Given the description of an element on the screen output the (x, y) to click on. 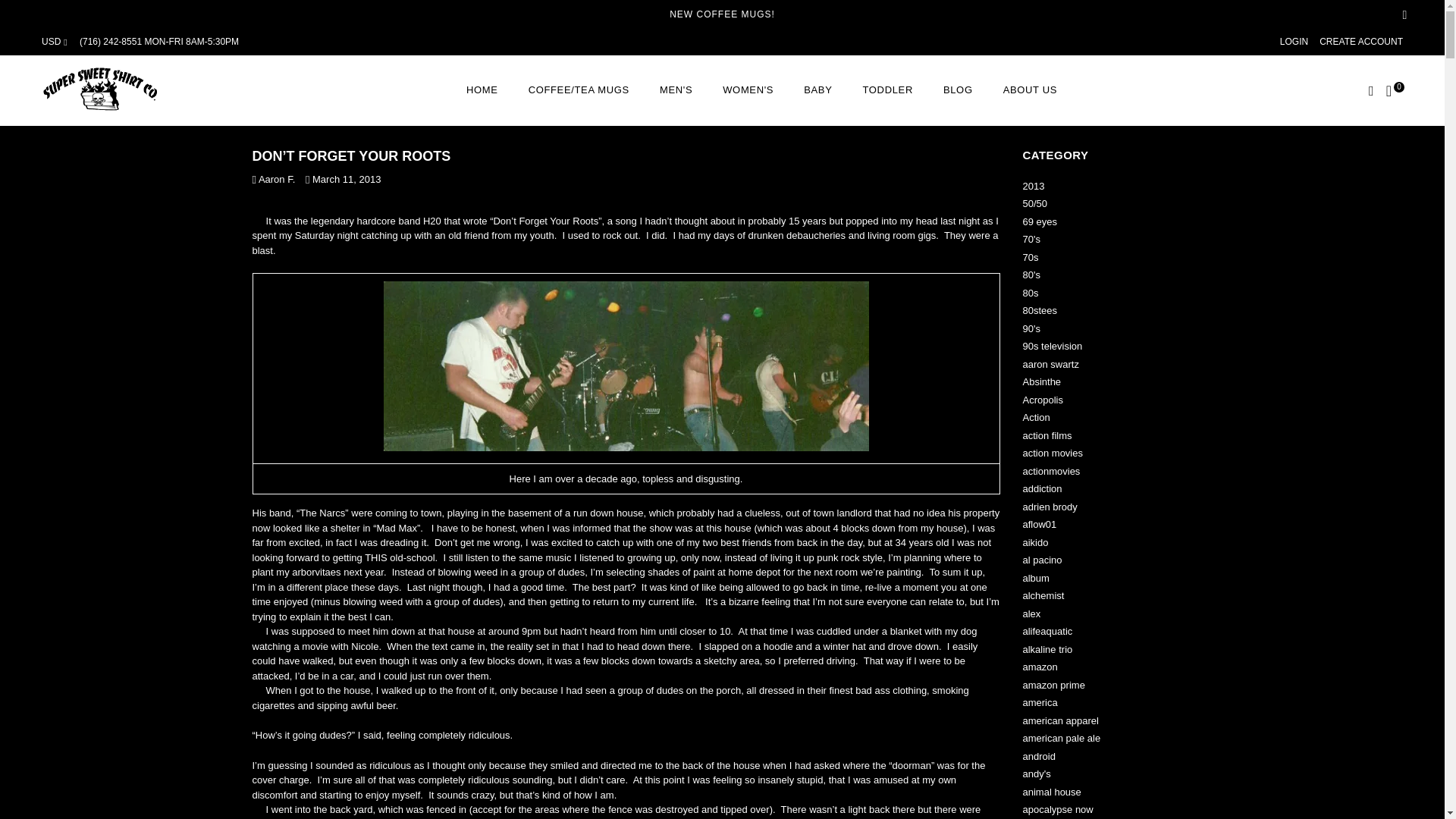
ABOUT US (1029, 90)
BABY (818, 90)
HOME (482, 90)
WOMEN'S (748, 90)
BLOG (958, 90)
Show articles tagged 80stees (1039, 310)
CREATE ACCOUNT (1361, 41)
Show articles tagged 70s (1030, 256)
Show articles tagged 2013 (1032, 185)
MEN'S (676, 90)
